Given the description of an element on the screen output the (x, y) to click on. 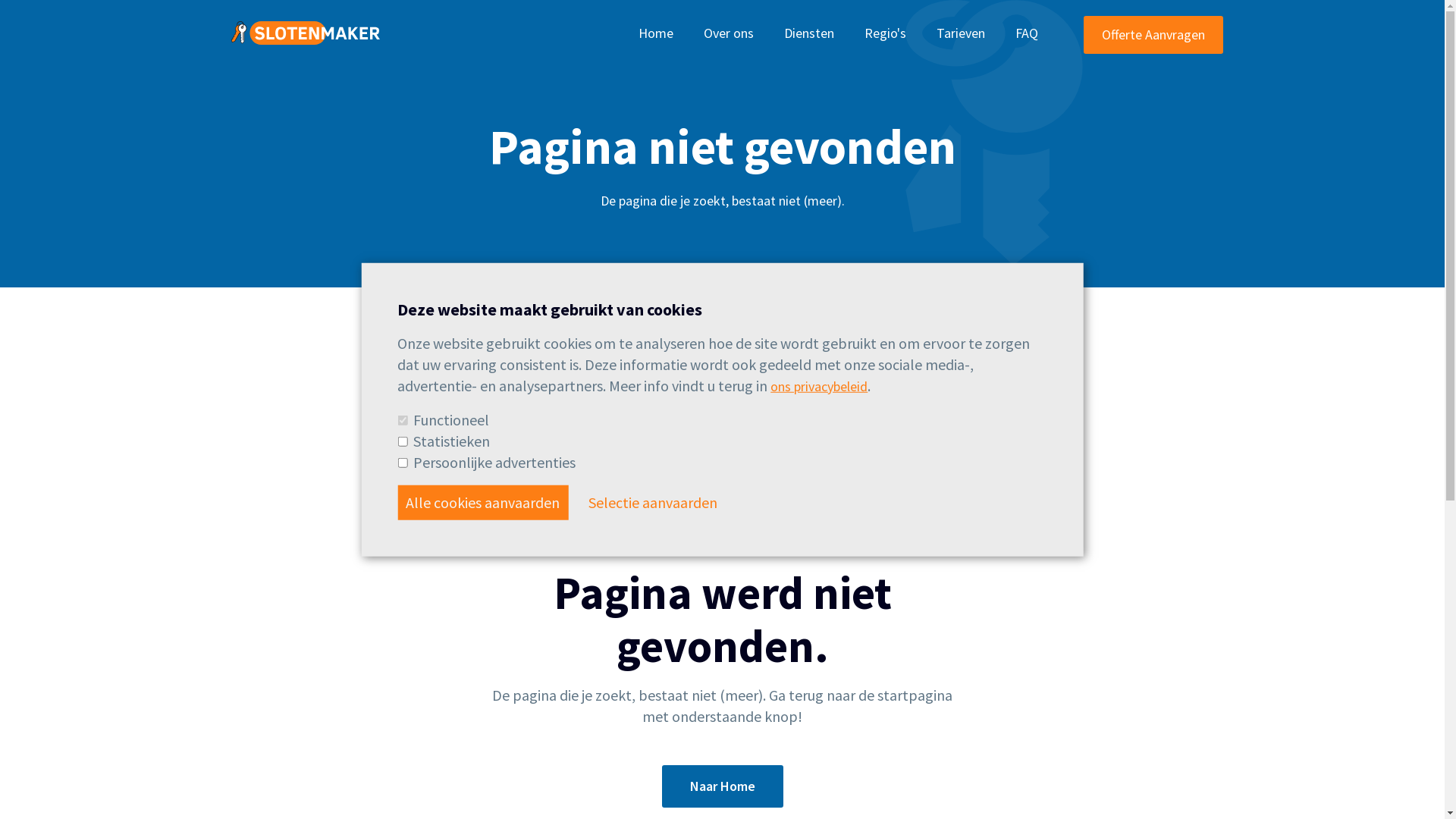
Offerte Aanvragen Element type: text (1152, 34)
Diensten Element type: text (808, 33)
Regio's Element type: text (885, 33)
Alle cookies aanvaarden Element type: text (482, 501)
FAQ Element type: text (1025, 33)
Naar Home Element type: text (721, 786)
ons privacybeleid Element type: text (818, 385)
Over ons Element type: text (728, 33)
Home Element type: text (655, 33)
Tarieven Element type: text (959, 33)
Selectie aanvaarden Element type: text (652, 501)
